Given the description of an element on the screen output the (x, y) to click on. 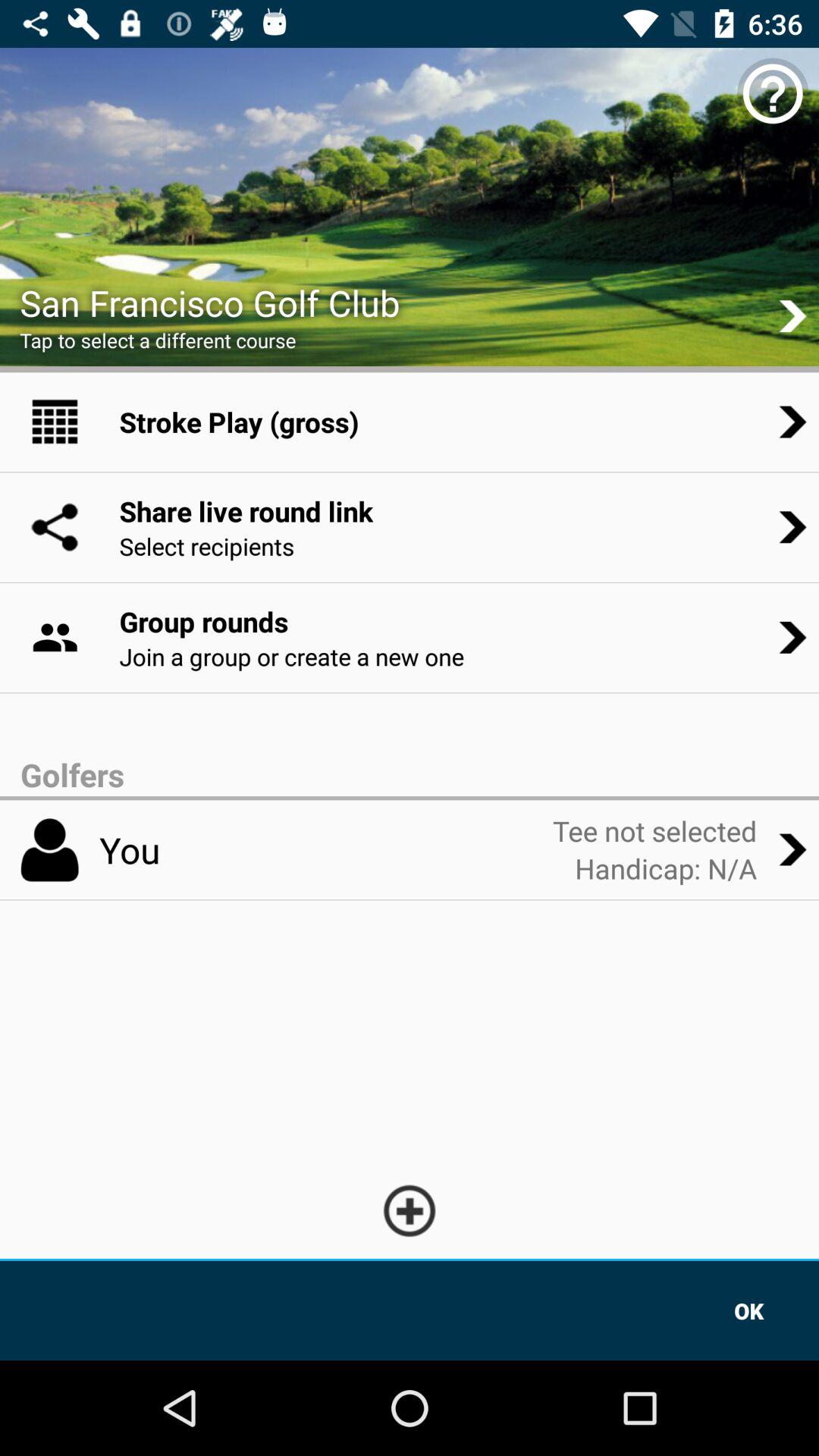
go to about option (772, 93)
